Given the description of an element on the screen output the (x, y) to click on. 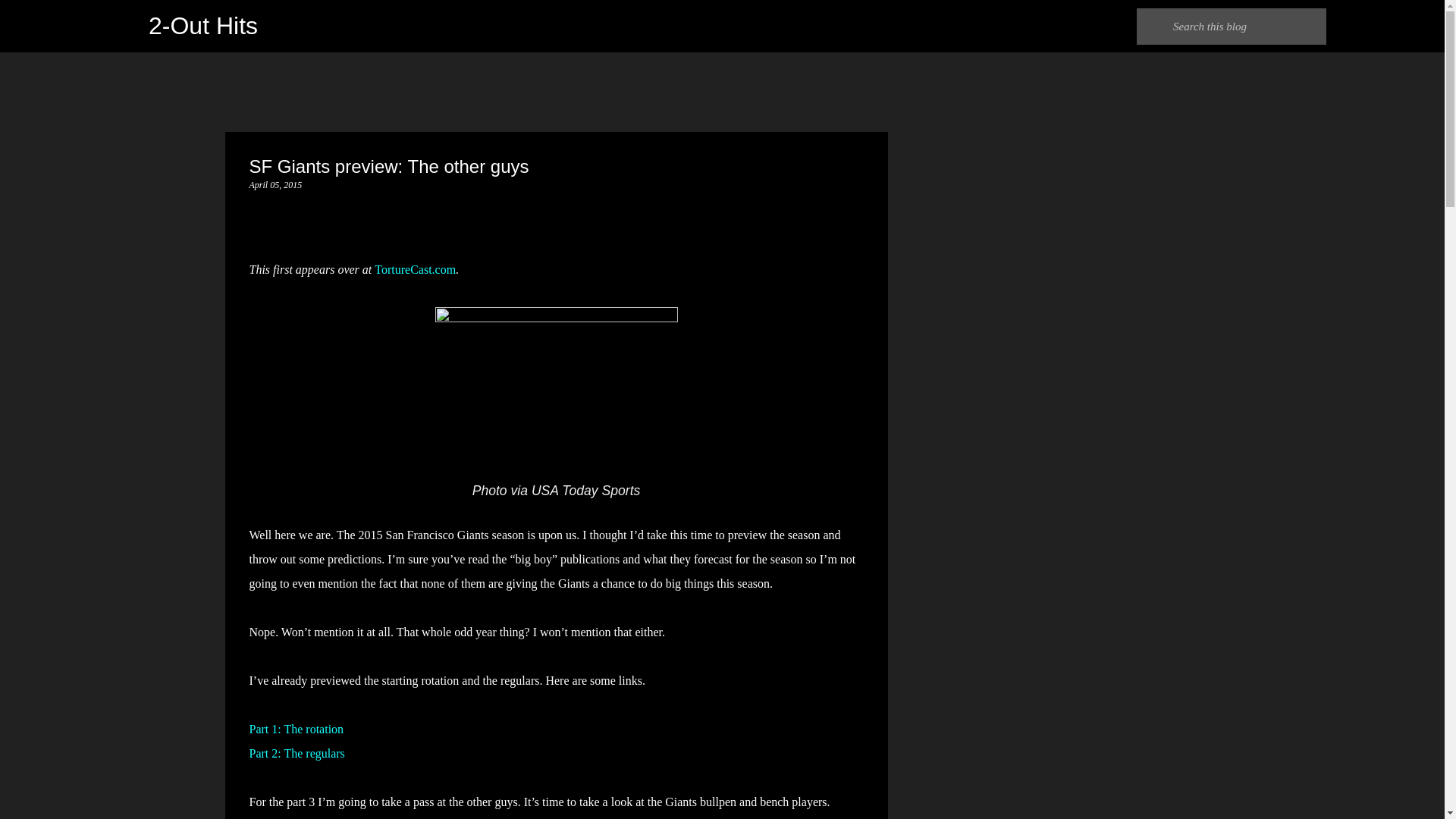
April 05, 2015 (274, 184)
Part 2: The regulars (295, 753)
2-Out Hits (202, 25)
TortureCast.com (414, 269)
Part 1: The rotation (295, 728)
permanent link (274, 184)
